Given the description of an element on the screen output the (x, y) to click on. 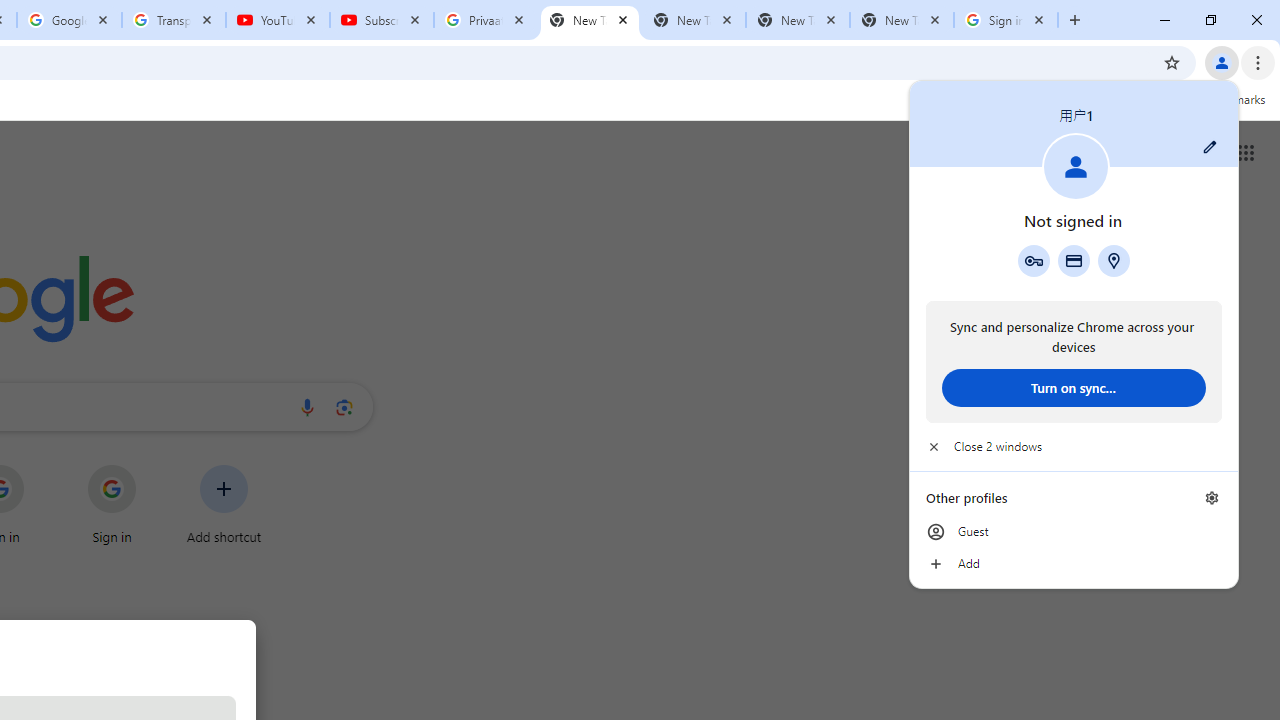
New Tab (901, 20)
Guest (1073, 531)
Subscriptions - YouTube (381, 20)
YouTube (278, 20)
Customize profile (1210, 147)
Google Account (68, 20)
Add (1073, 563)
Close 2 windows (1073, 446)
Addresses and more (1114, 260)
